Given the description of an element on the screen output the (x, y) to click on. 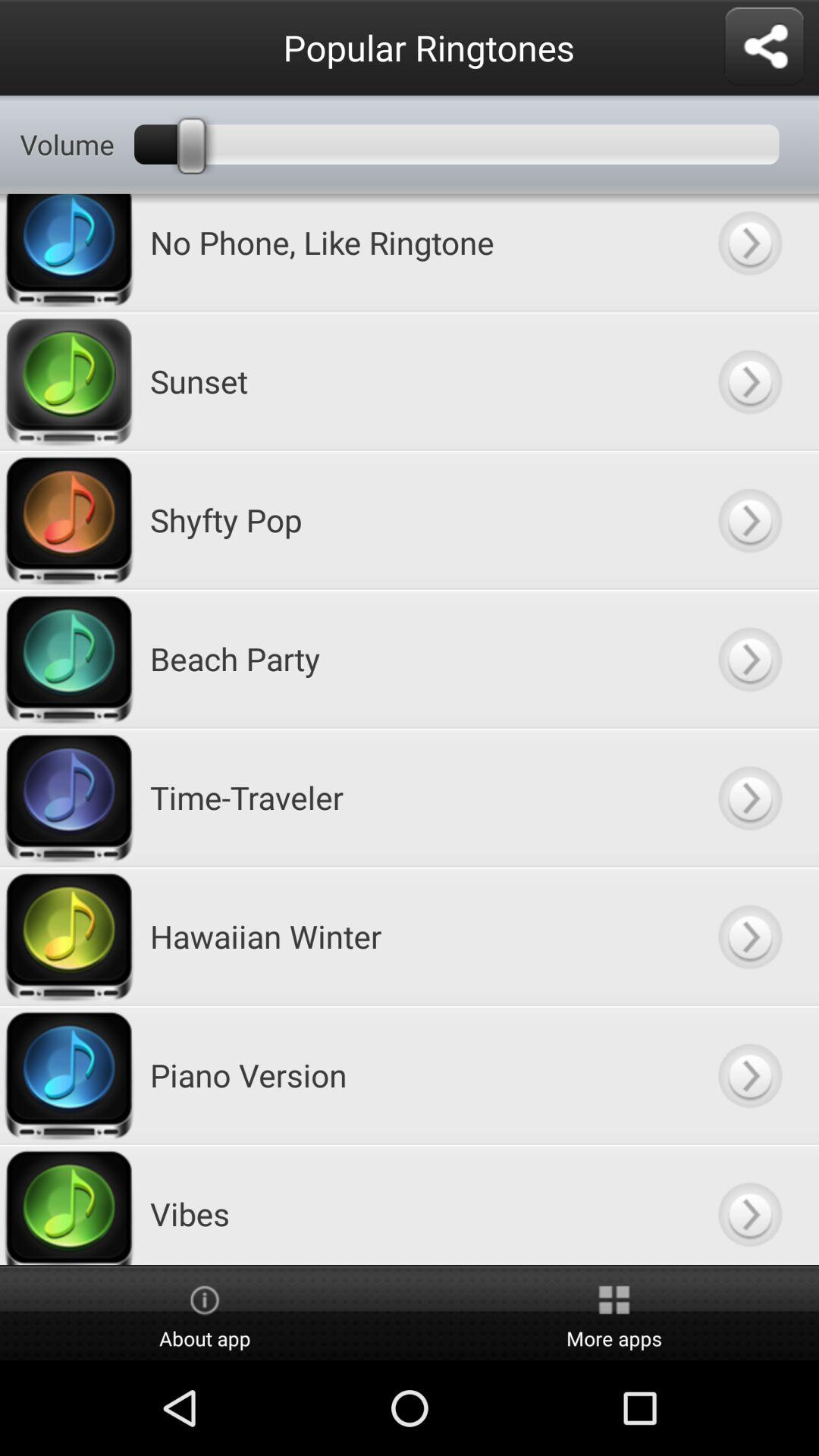
download ringtone (749, 520)
